Given the description of an element on the screen output the (x, y) to click on. 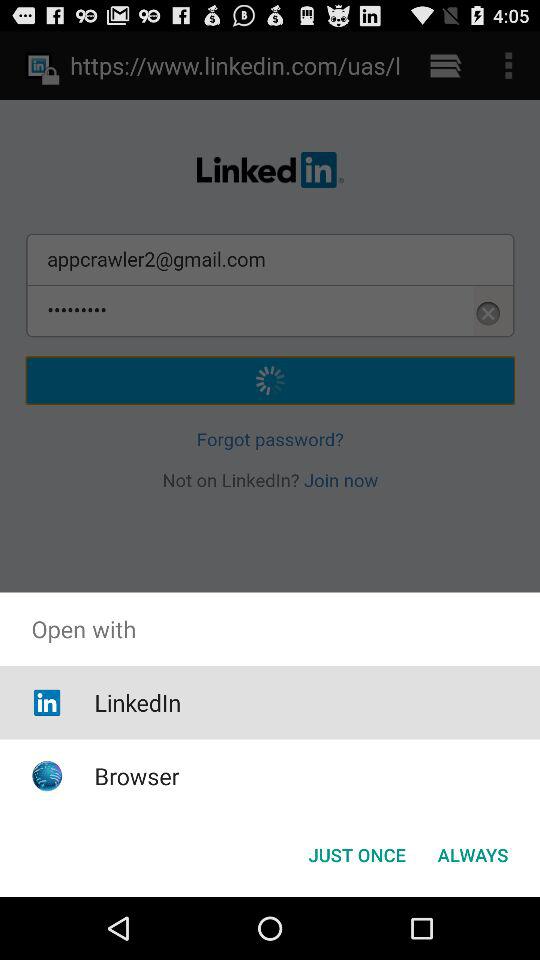
jump until the just once item (356, 854)
